Given the description of an element on the screen output the (x, y) to click on. 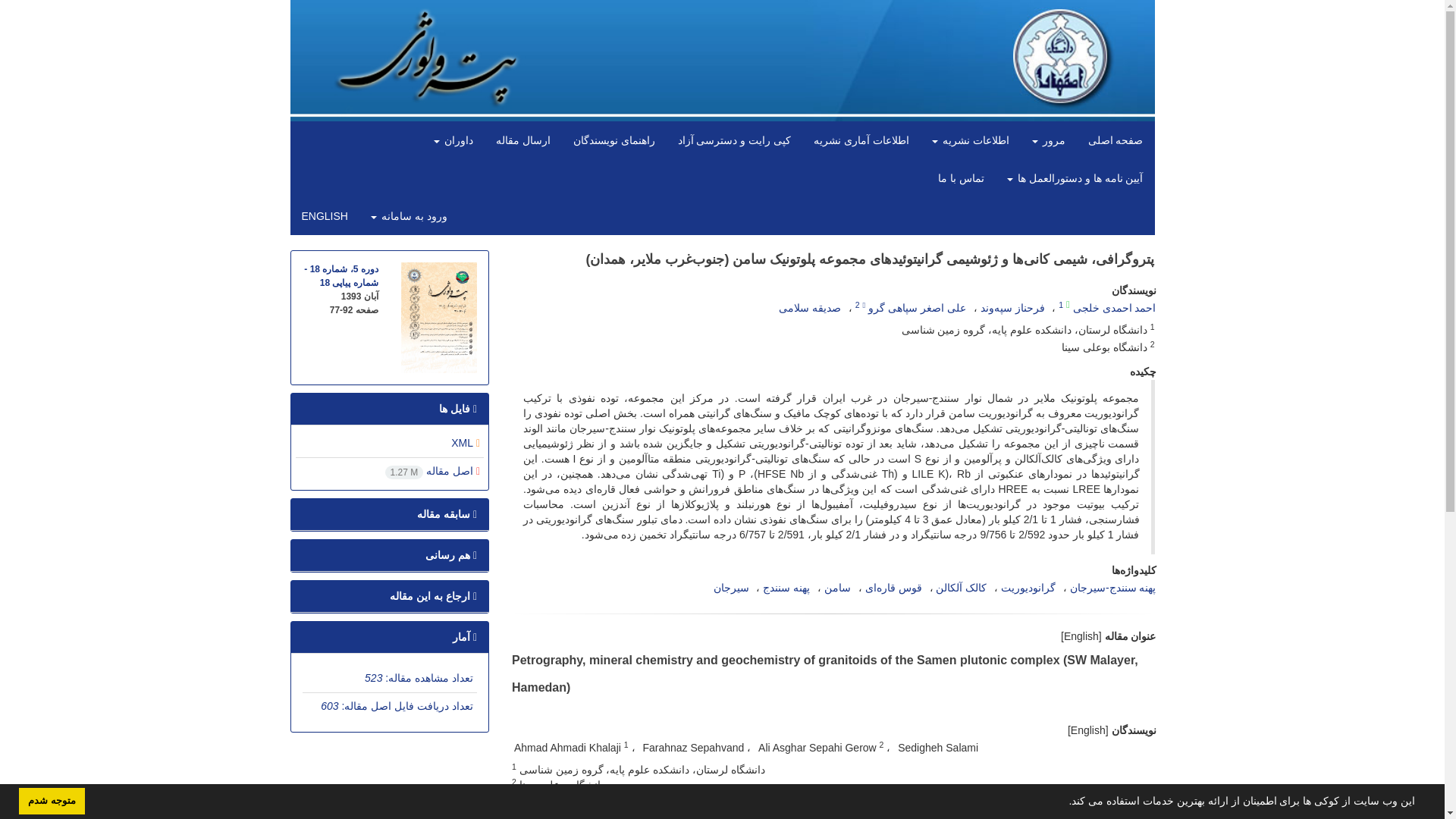
ENGLISH (323, 216)
